Given the description of an element on the screen output the (x, y) to click on. 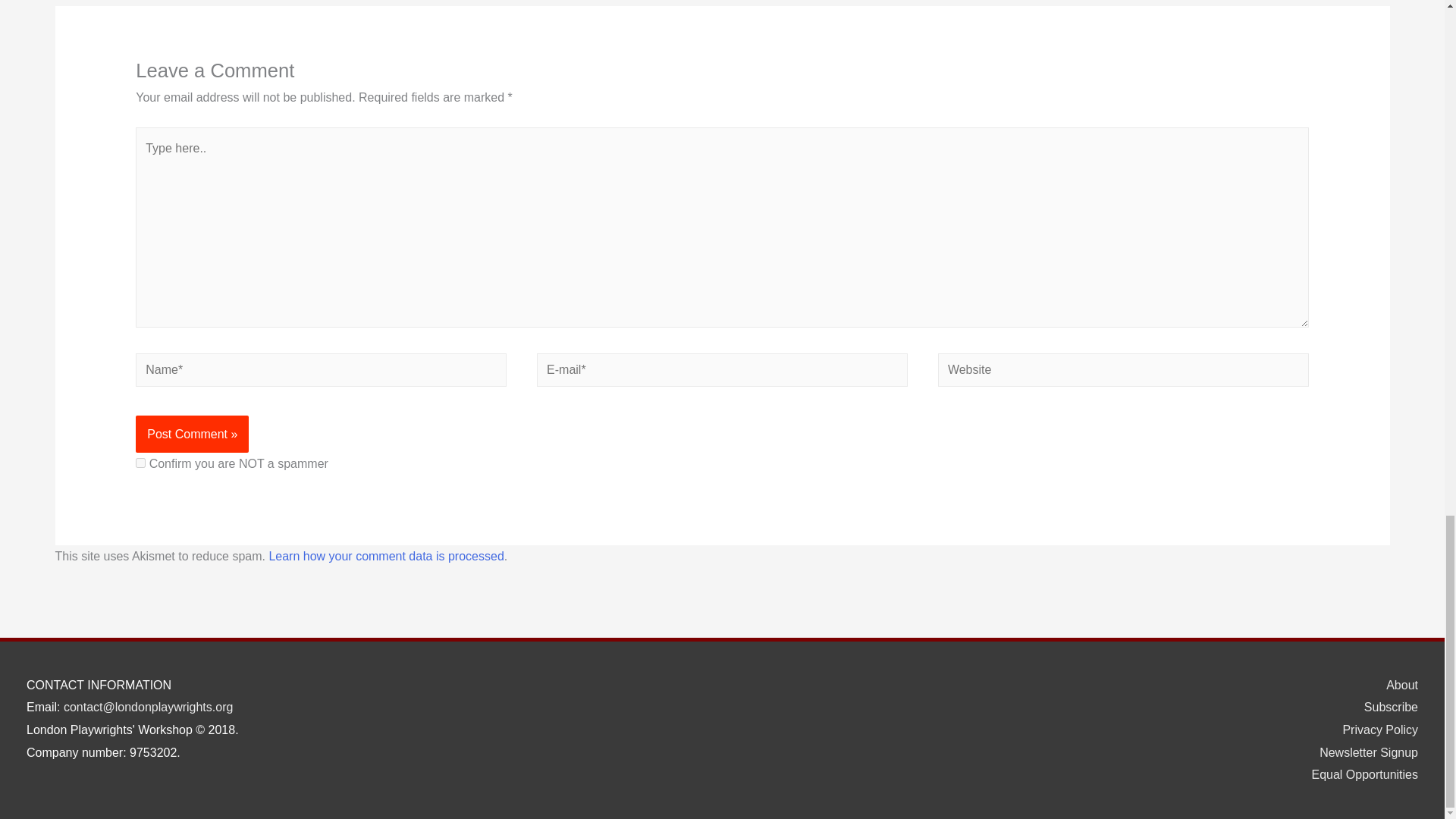
About (1396, 684)
Subscribe (1385, 707)
Equal Opportunities (1358, 774)
Newsletter Signup (1362, 752)
Learn how your comment data is processed (385, 555)
on (140, 462)
Privacy Policy (1374, 729)
